Given the description of an element on the screen output the (x, y) to click on. 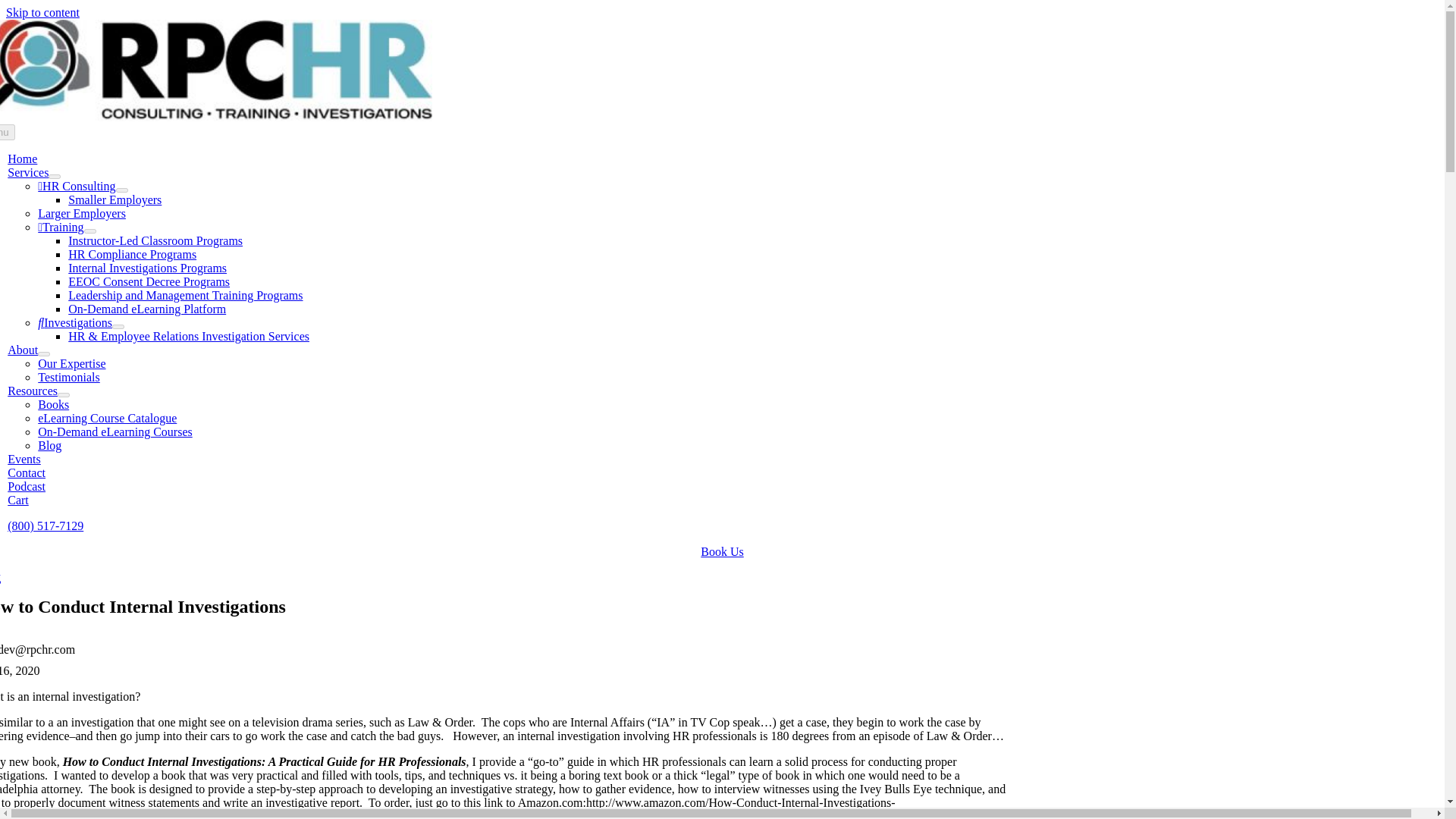
Leadership and Management Training Programs (185, 295)
Menu (7, 132)
Podcast (26, 486)
Internal Investigations Programs (147, 267)
Books (52, 404)
Investigations (74, 322)
Services (27, 172)
EEOC Consent Decree Programs (149, 281)
Skip to content (42, 11)
Book Us (721, 551)
Training (59, 226)
Larger Employers (81, 213)
Home (22, 158)
About (22, 349)
Instructor-Led Classroom Programs (155, 240)
